Given the description of an element on the screen output the (x, y) to click on. 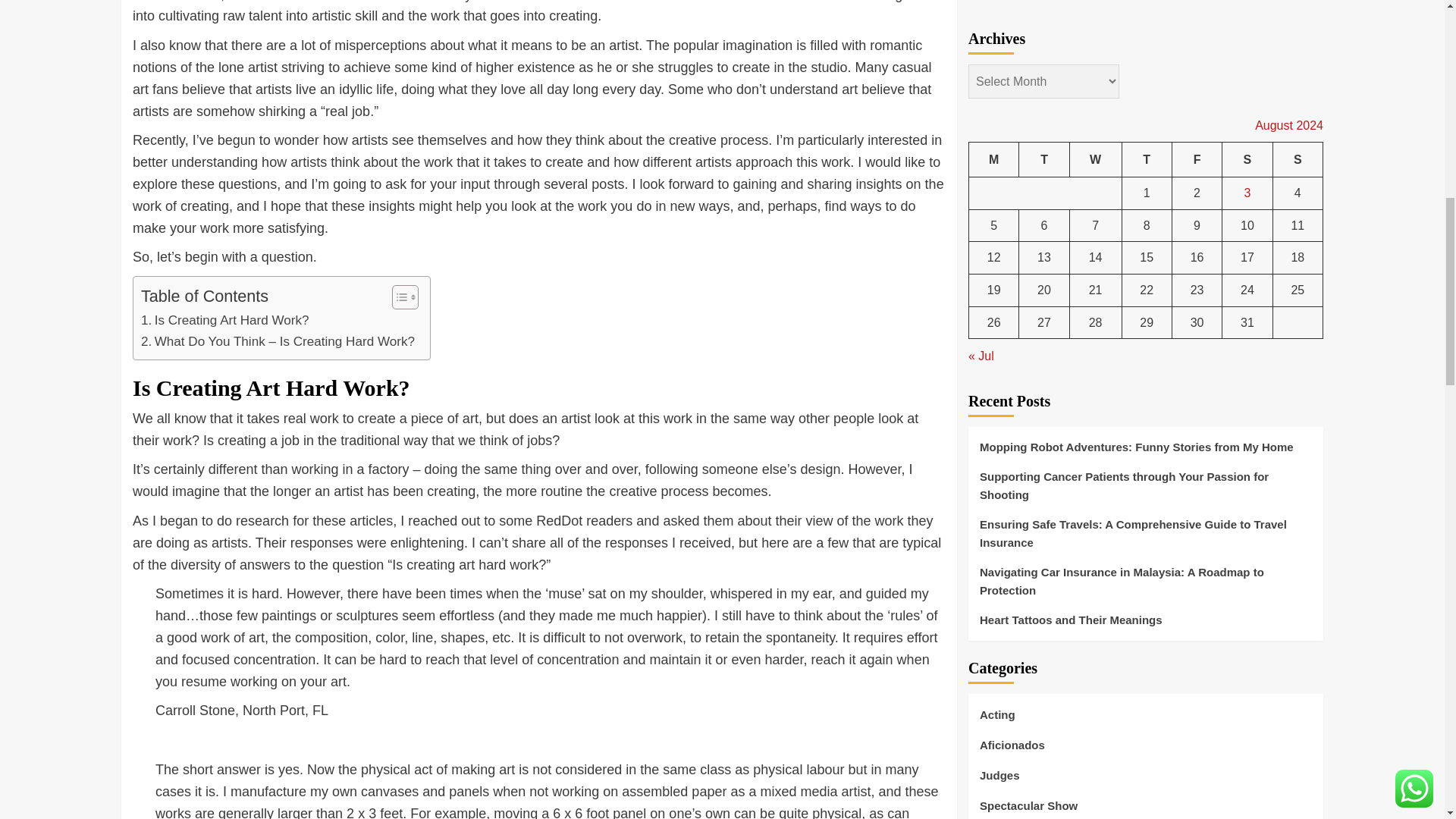
Is Creating Art Hard Work? (224, 320)
Is Creating Art Hard Work? (224, 320)
